Given the description of an element on the screen output the (x, y) to click on. 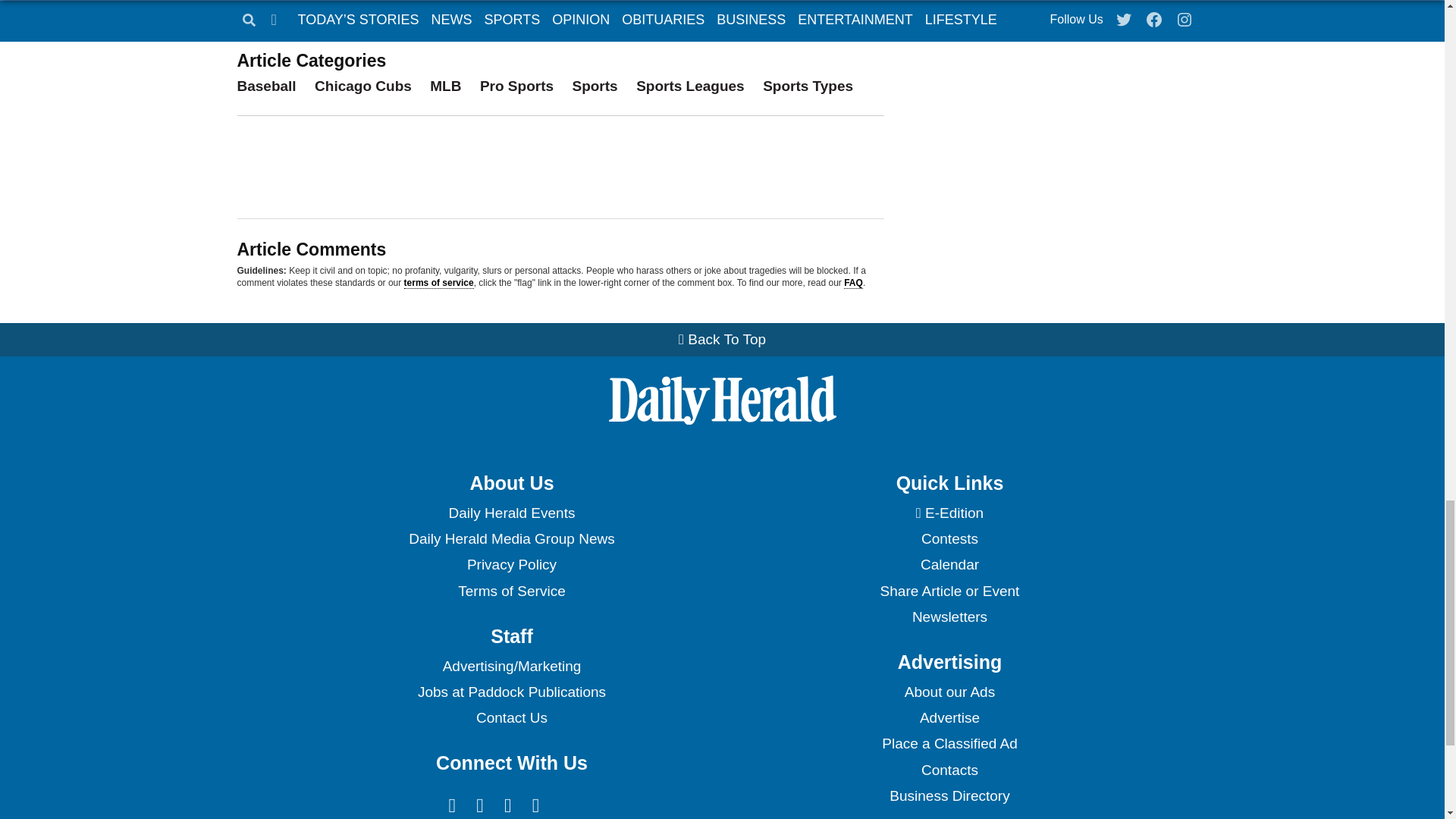
Terms of Service (511, 591)
Privacy Policy (511, 565)
Daily Herald Events (511, 513)
Daily Herald Digital Newspaper (949, 513)
Jobs at Paddock Publications (511, 692)
Daily Herald Media Group News (511, 539)
Contact Us (511, 718)
